Given the description of an element on the screen output the (x, y) to click on. 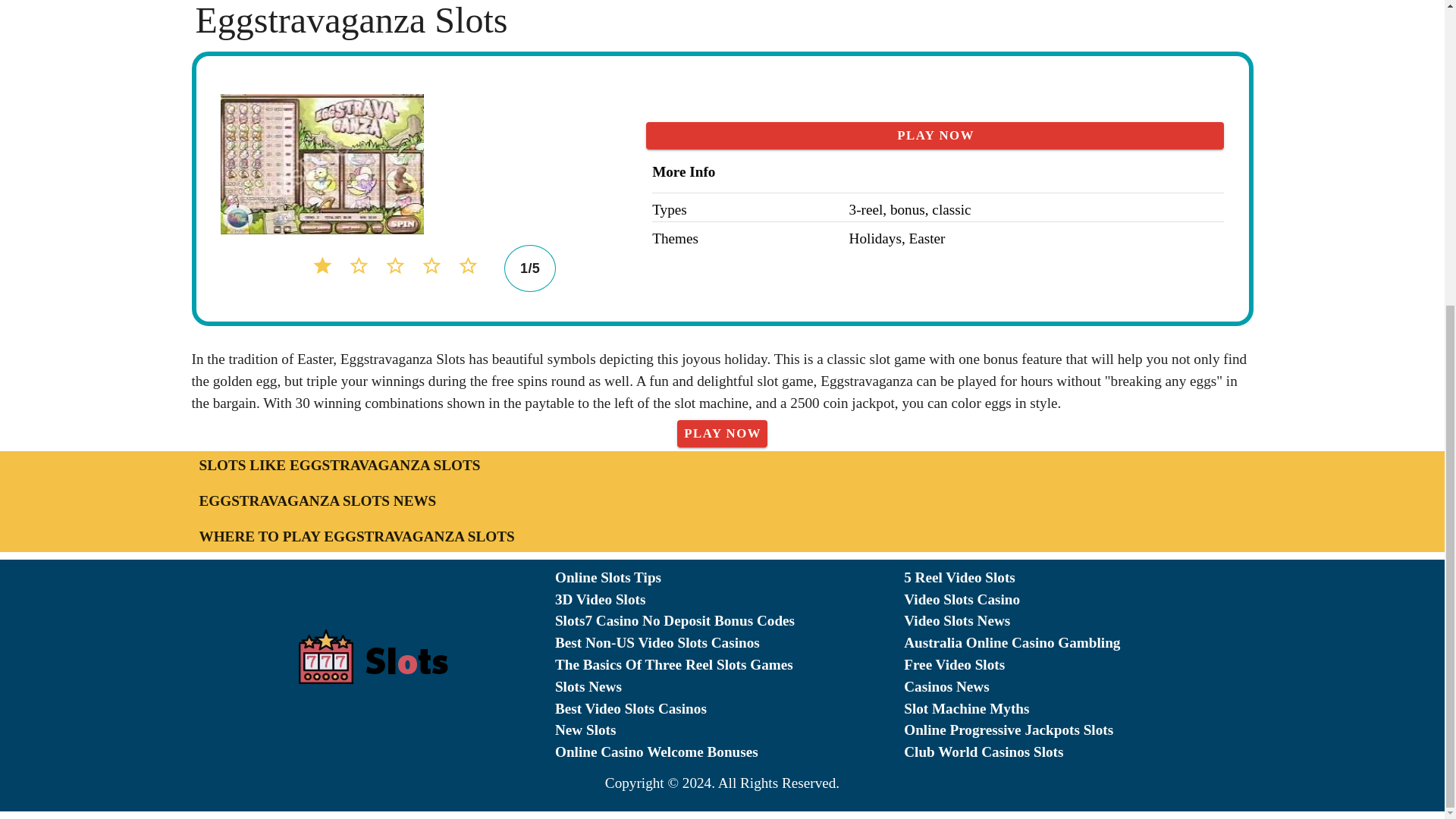
PLAY NOW (722, 433)
Free Video Slots (1078, 665)
3D Video Slots (729, 599)
Online Slots Tips (729, 577)
New Slots (729, 730)
The Basics Of Three Reel Slots Games (729, 665)
Casinos News (1078, 687)
Best Video Slots Casinos (729, 709)
Video Slots Casino (1078, 599)
Slot Machine Myths (1078, 709)
Slots News (729, 687)
PLAY NOW (935, 135)
Australia Online Casino Gambling (1078, 643)
Video Slots News (1078, 621)
Slots7 Casino No Deposit Bonus Codes (729, 621)
